Given the description of an element on the screen output the (x, y) to click on. 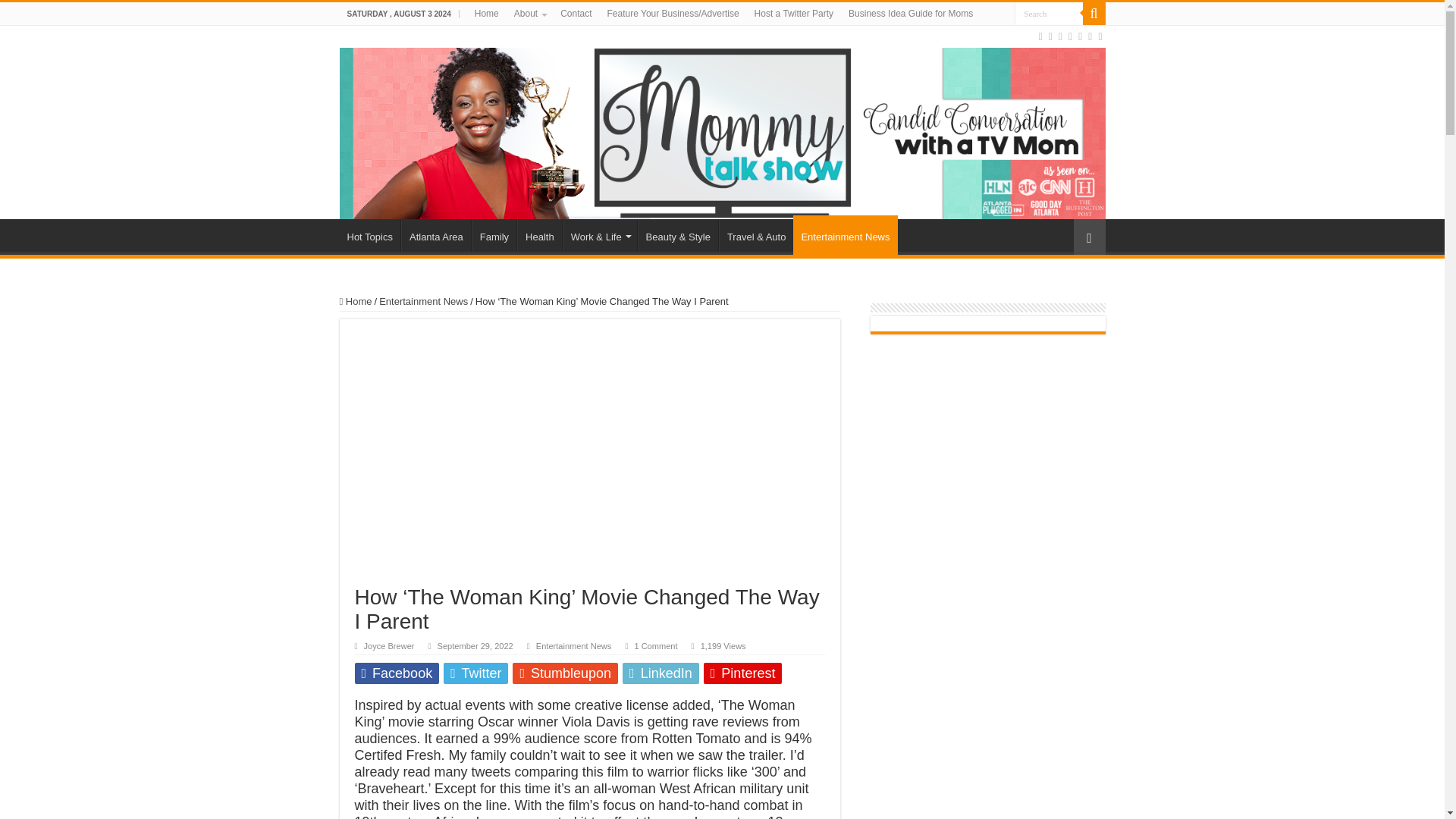
Entertainment News (844, 234)
Pinterest (1070, 36)
Youtube (1080, 36)
Search (1048, 13)
Home (355, 301)
Search (1048, 13)
Entertainment News (422, 301)
Hot Topics (369, 234)
StumbleUpon (1089, 36)
Health (539, 234)
Facebook (1050, 36)
Twitter (1060, 36)
Search (1094, 13)
Entertainment News (573, 645)
